Given the description of an element on the screen output the (x, y) to click on. 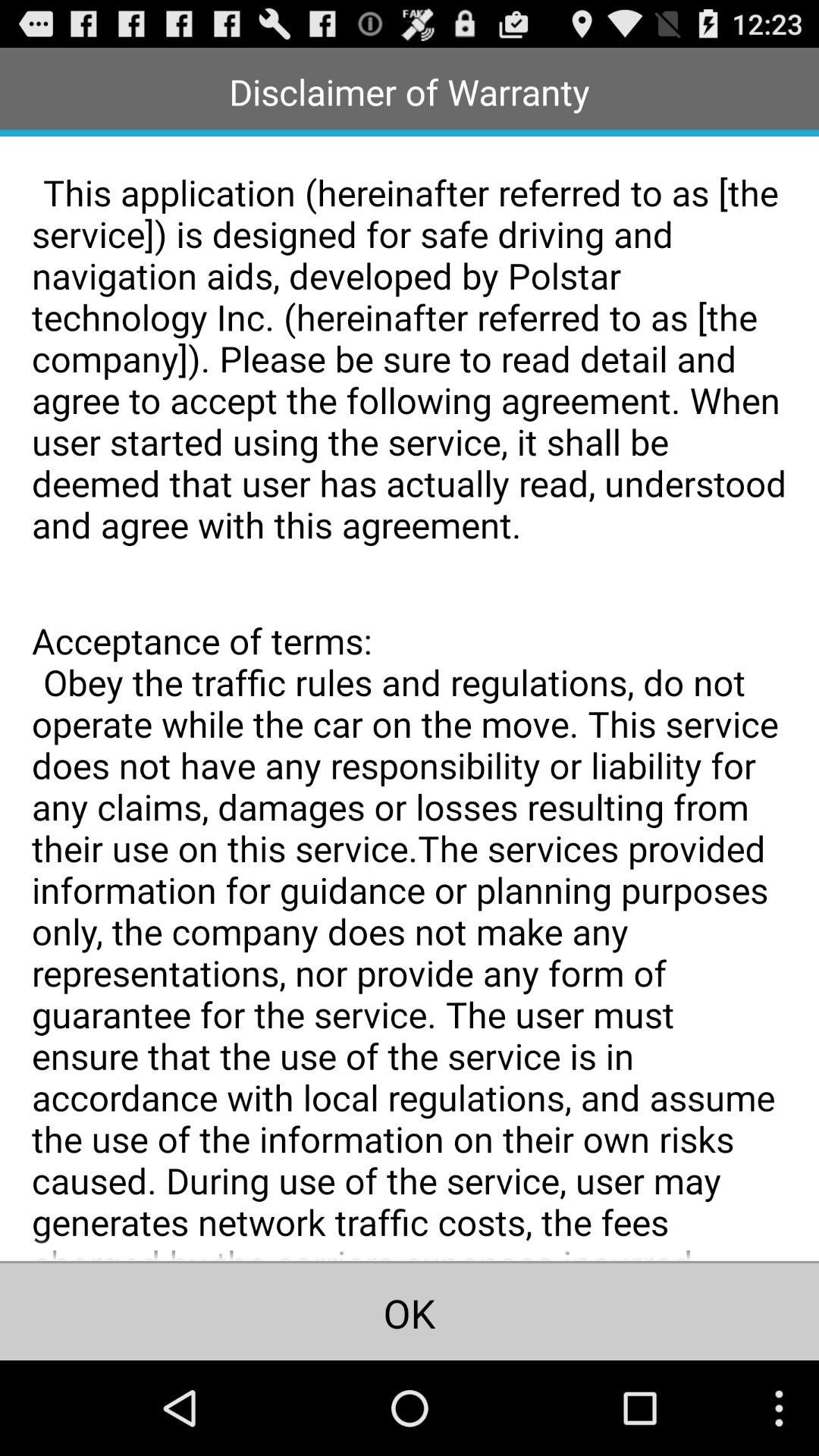
choose ok item (409, 1311)
